Given the description of an element on the screen output the (x, y) to click on. 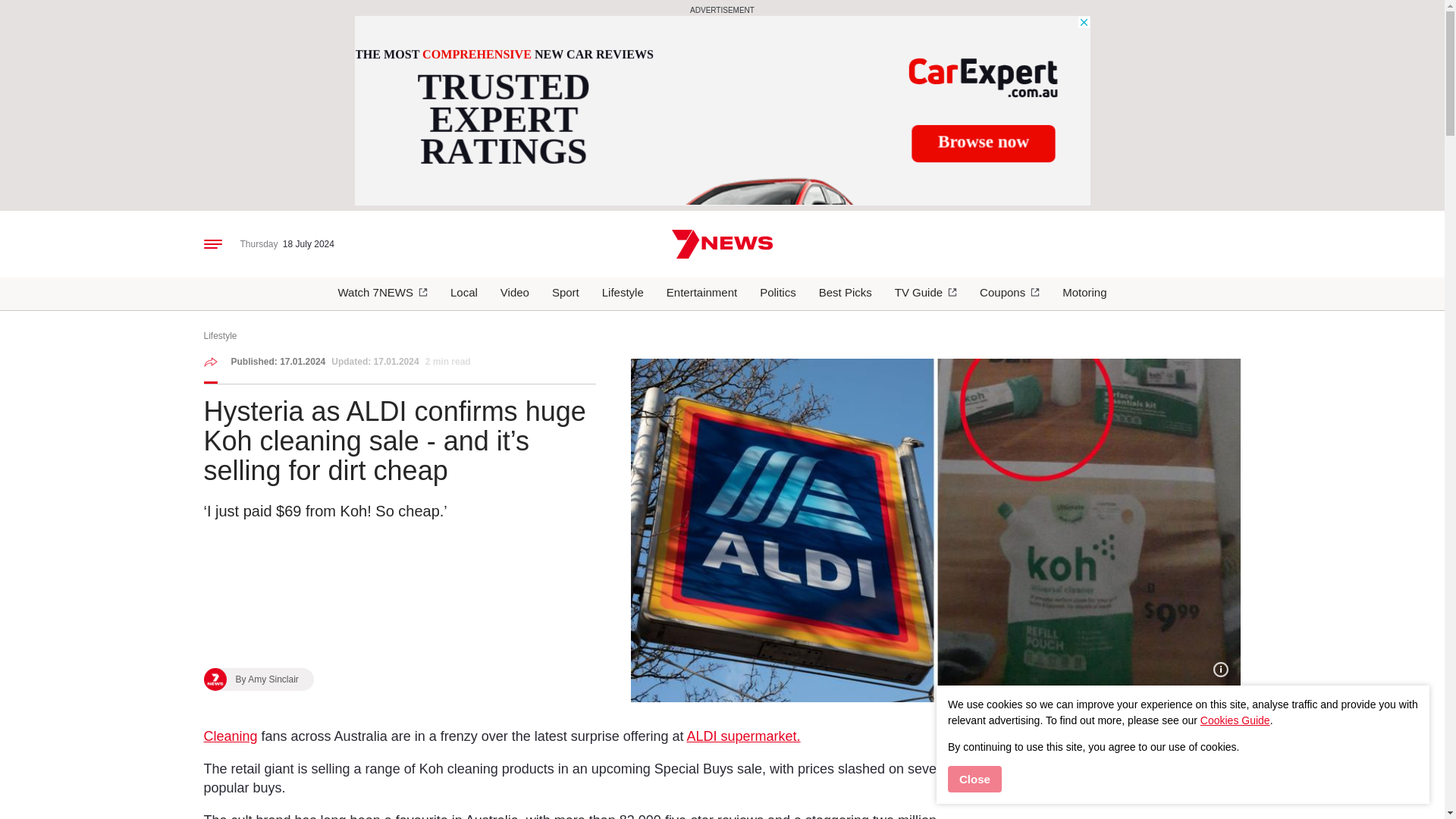
Click to open navigation (212, 243)
